Given the description of an element on the screen output the (x, y) to click on. 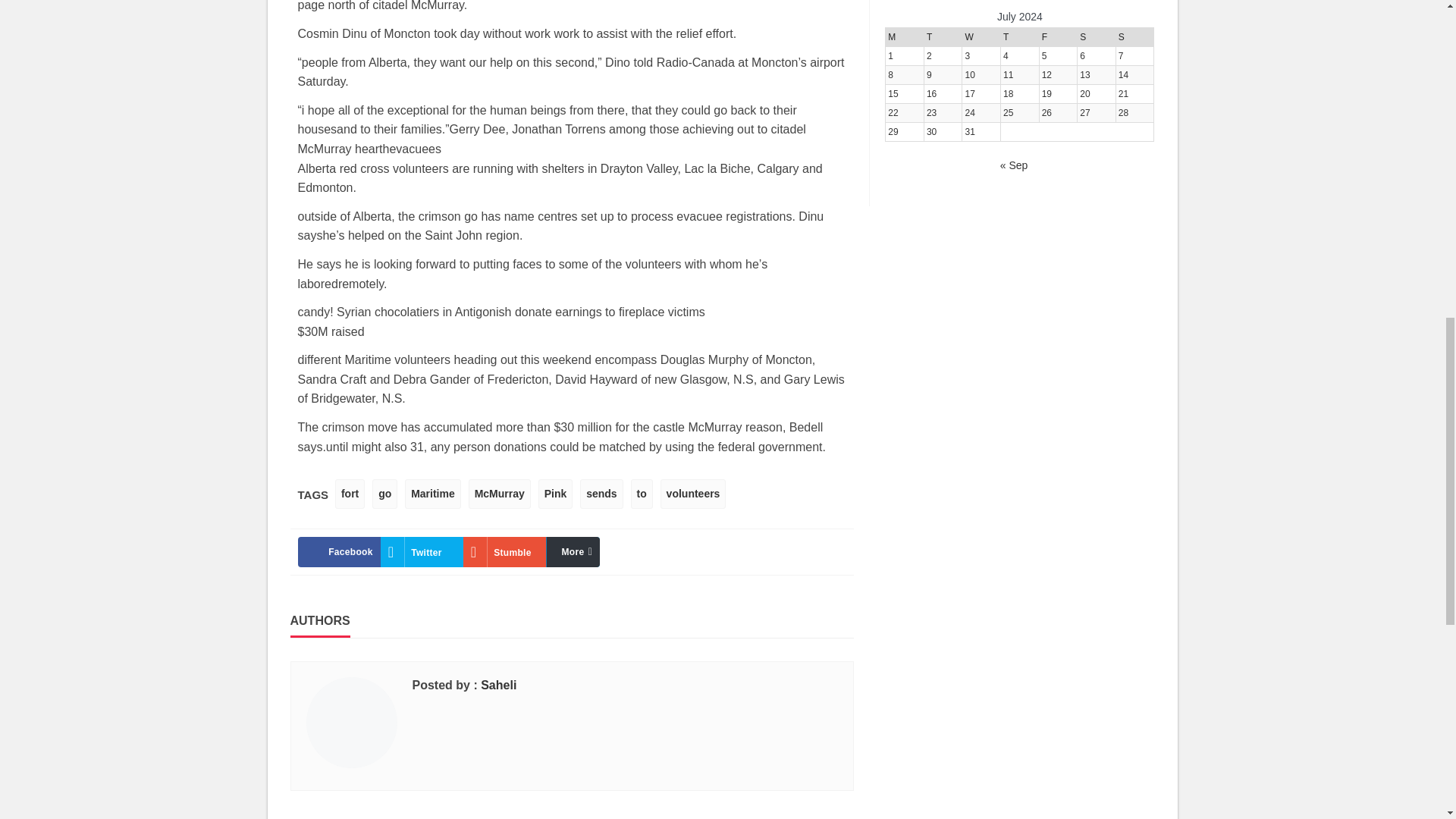
Pink go sends Maritime volunteers to fort McMurray (503, 552)
Pink (555, 493)
Twitter (421, 552)
Maritime (432, 493)
Facebook (338, 552)
McMurray (499, 493)
sends (601, 493)
Pink go sends Maritime volunteers to fort McMurray (587, 552)
volunteers (693, 493)
fort (349, 493)
Posts by Saheli (498, 684)
